Given the description of an element on the screen output the (x, y) to click on. 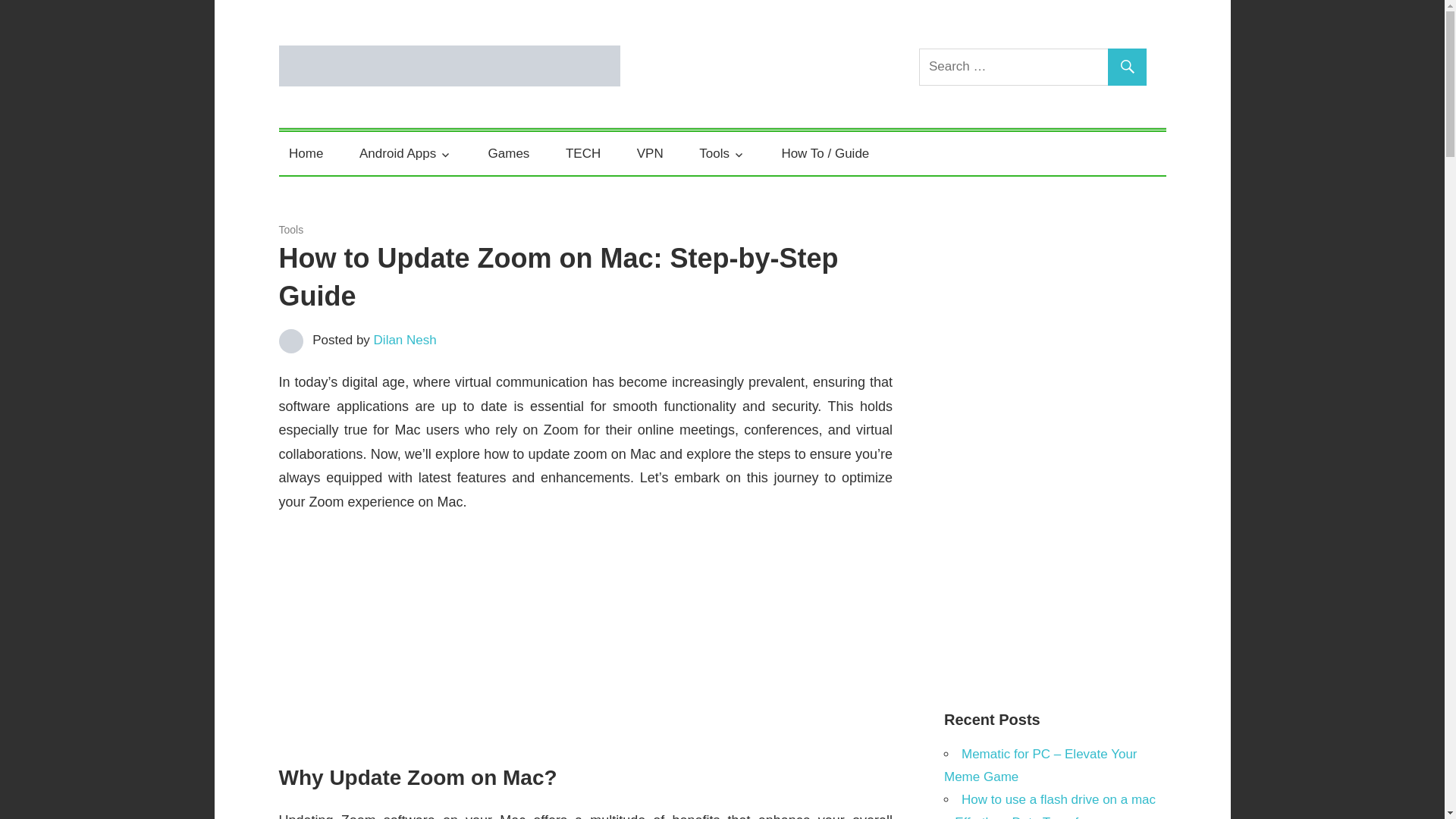
Search for: (1032, 66)
Home (306, 153)
Tools (721, 153)
Advertisement (586, 640)
Games (508, 153)
Android Apps (405, 153)
Tools (291, 229)
VPN (649, 153)
TECH (582, 153)
Dilan Nesh (405, 339)
